Given the description of an element on the screen output the (x, y) to click on. 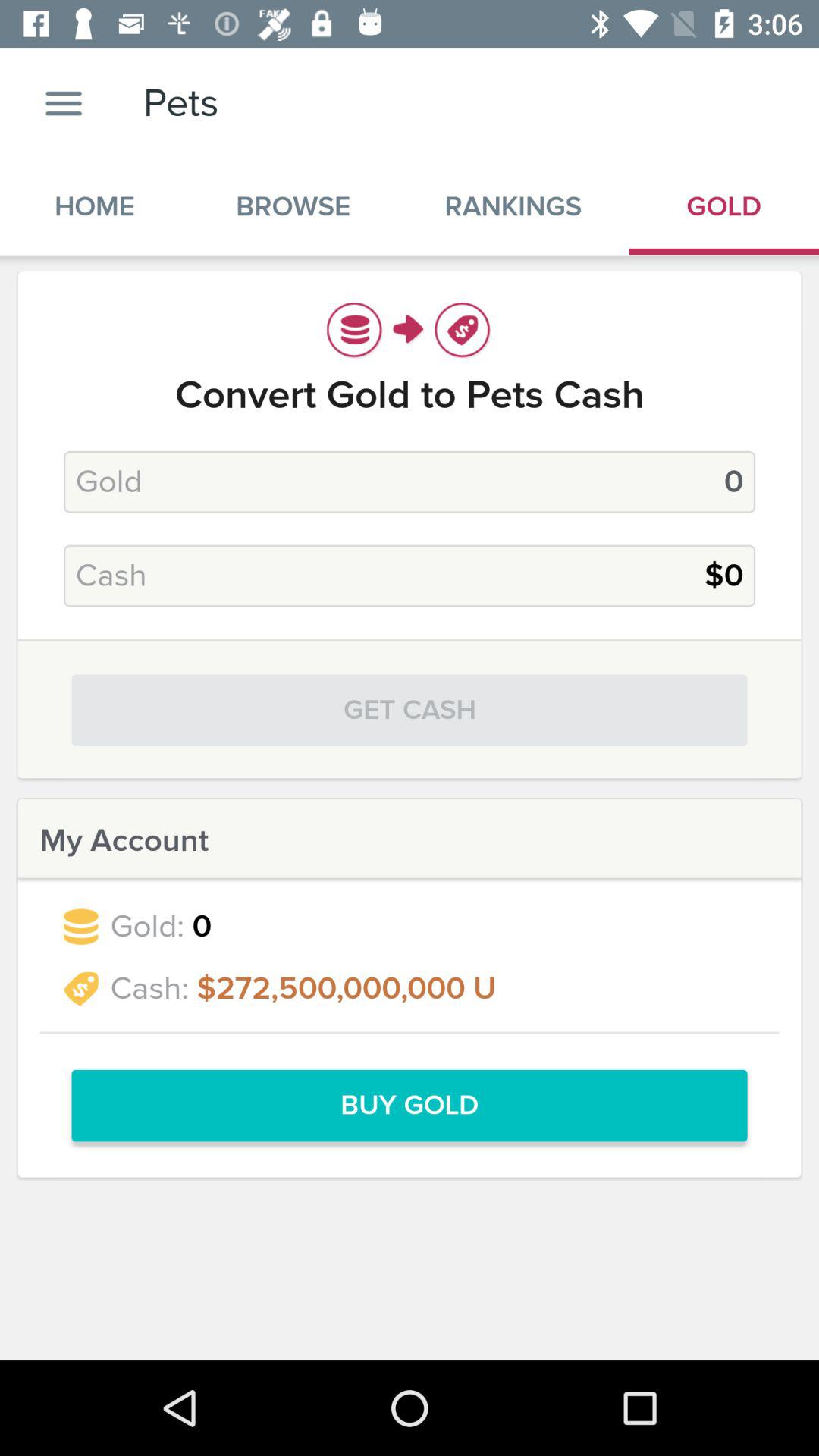
tap the item above home icon (63, 103)
